Given the description of an element on the screen output the (x, y) to click on. 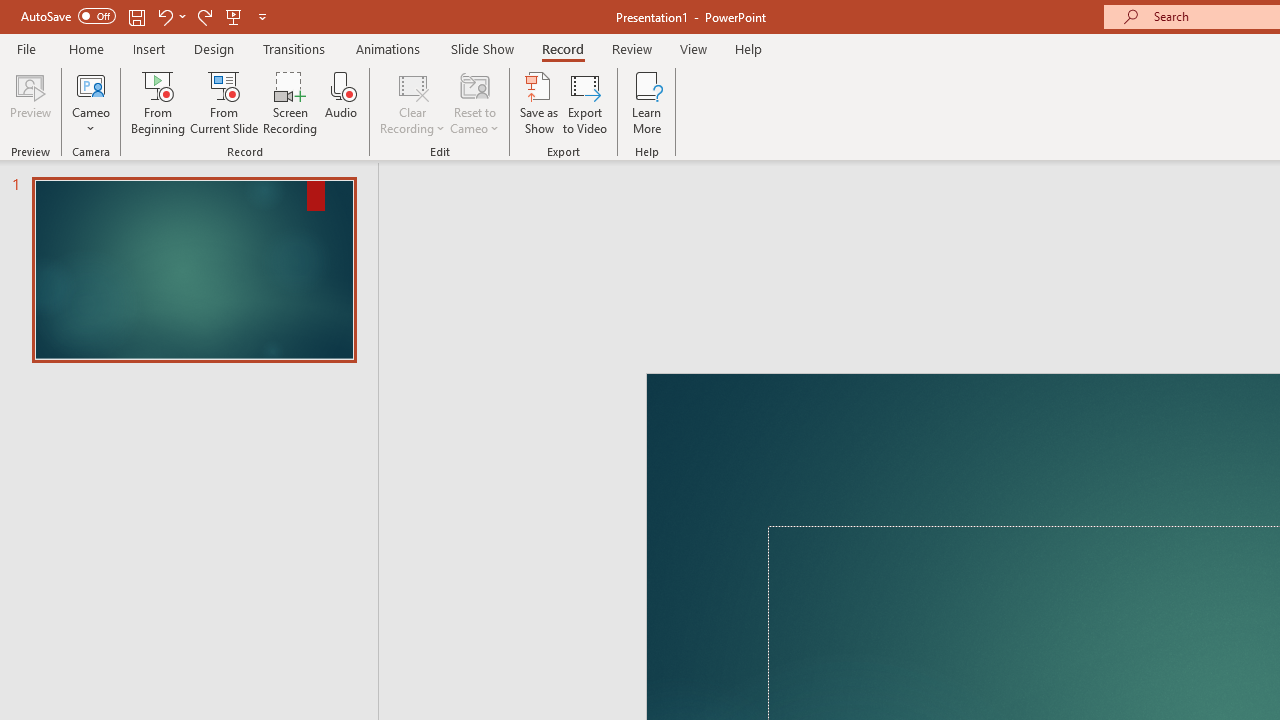
Preview (30, 102)
Clear Recording (412, 102)
Export to Video (585, 102)
Reset to Cameo (474, 102)
Save as Show (539, 102)
Learn More (646, 102)
